Given the description of an element on the screen output the (x, y) to click on. 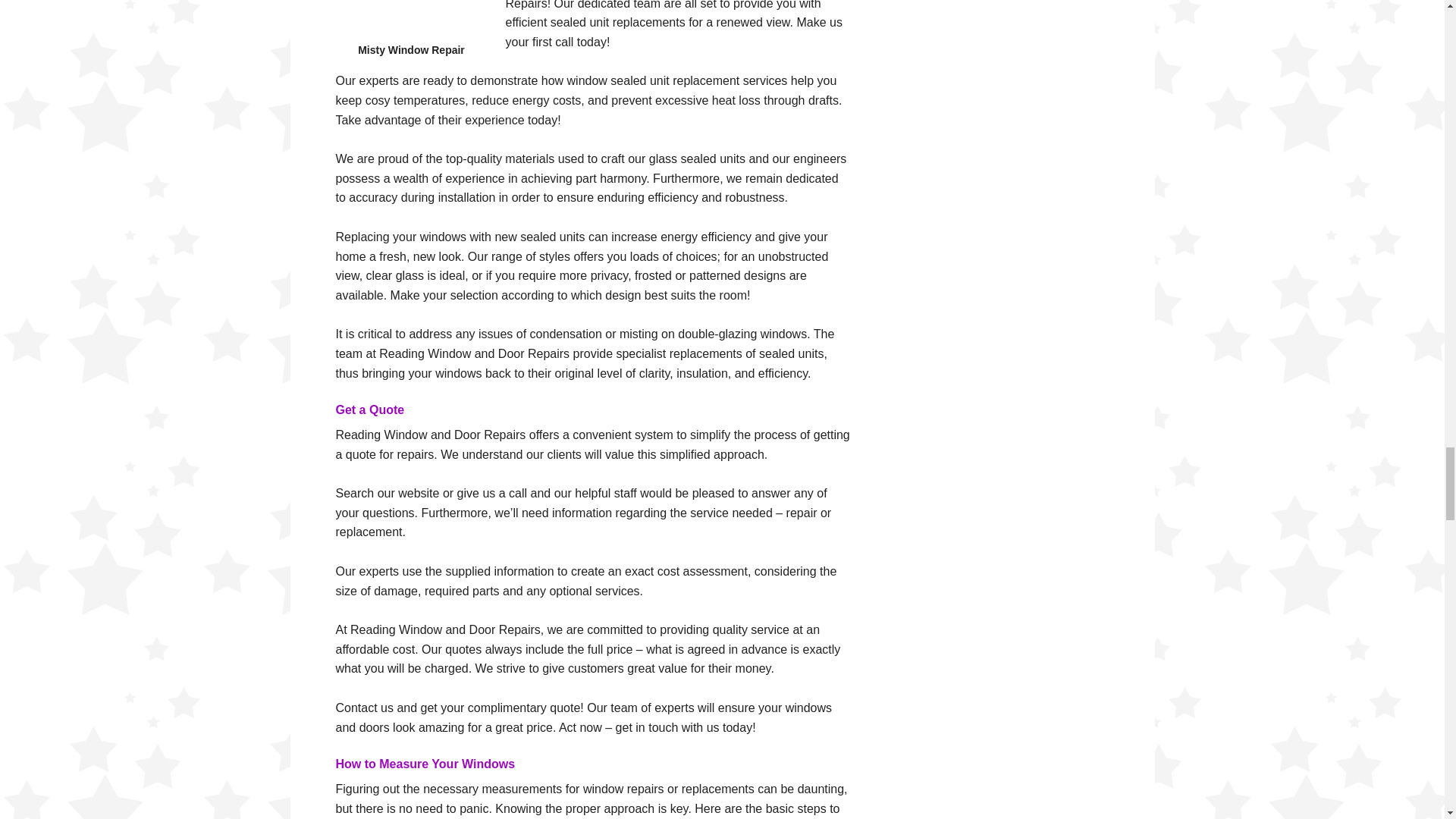
Misted Double Glazing Repairs near Reading (410, 22)
